Given the description of an element on the screen output the (x, y) to click on. 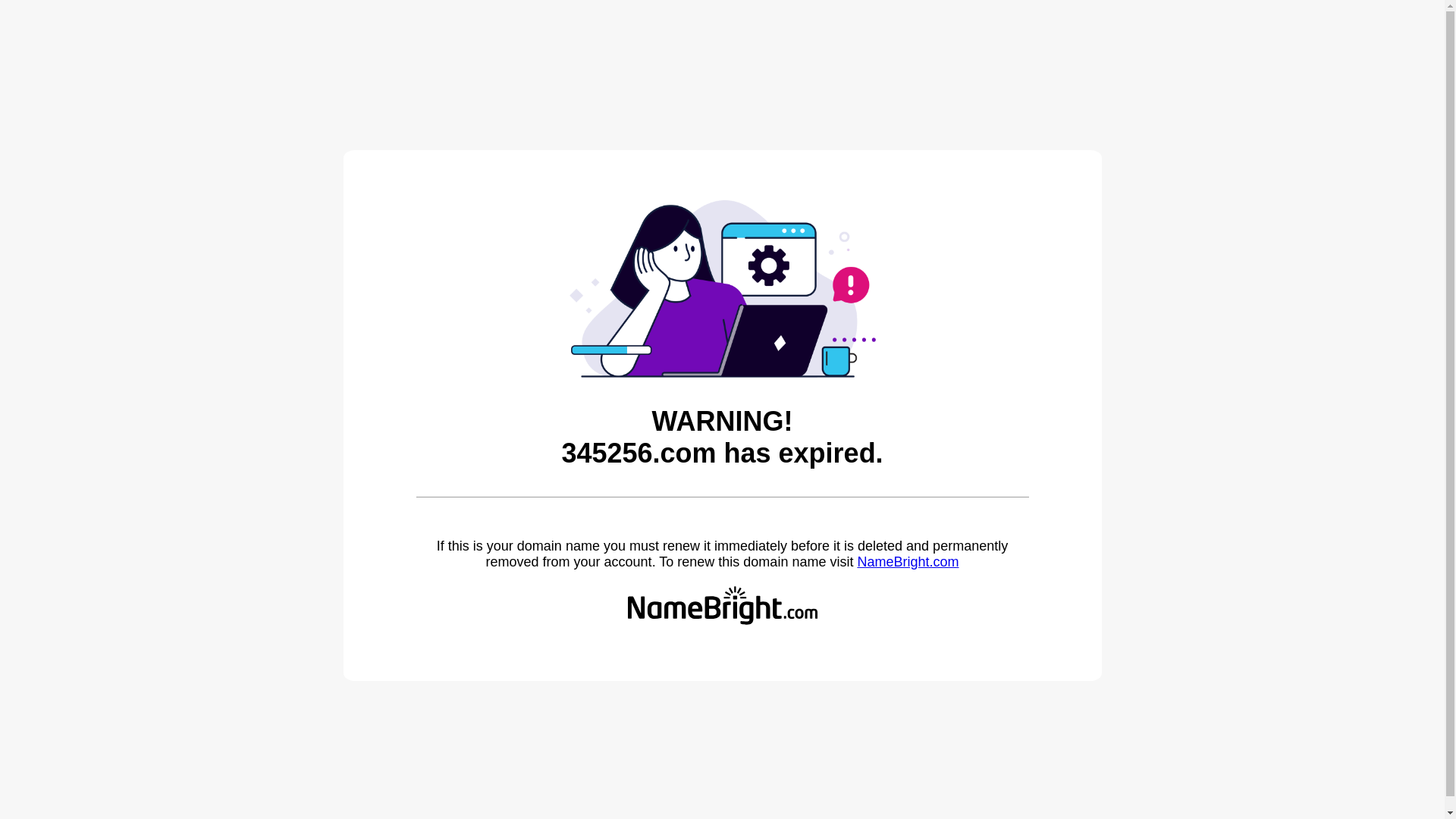
NameBright.com Element type: text (907, 561)
